Given the description of an element on the screen output the (x, y) to click on. 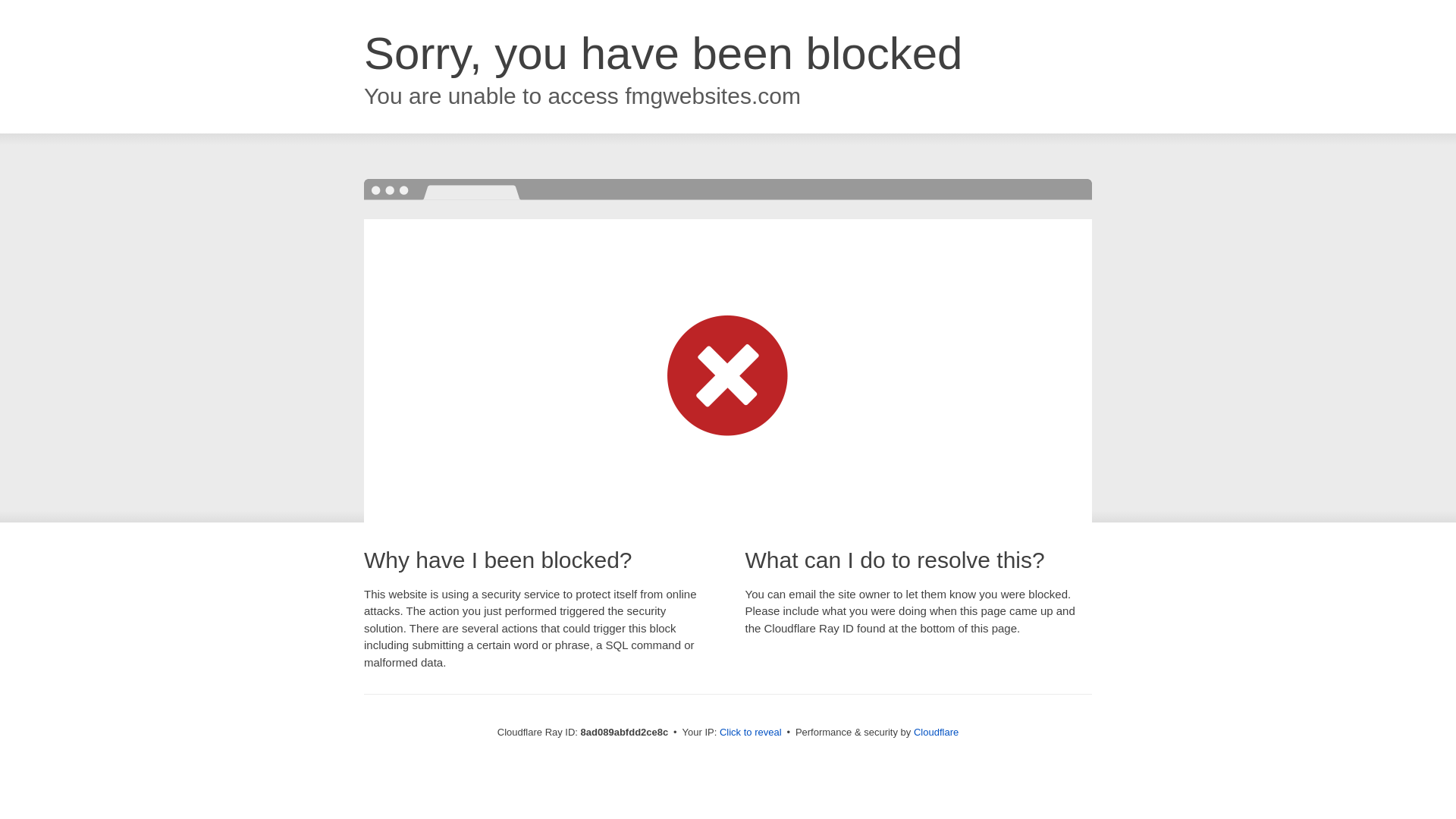
Click to reveal (750, 732)
Cloudflare (936, 731)
